Given the description of an element on the screen output the (x, y) to click on. 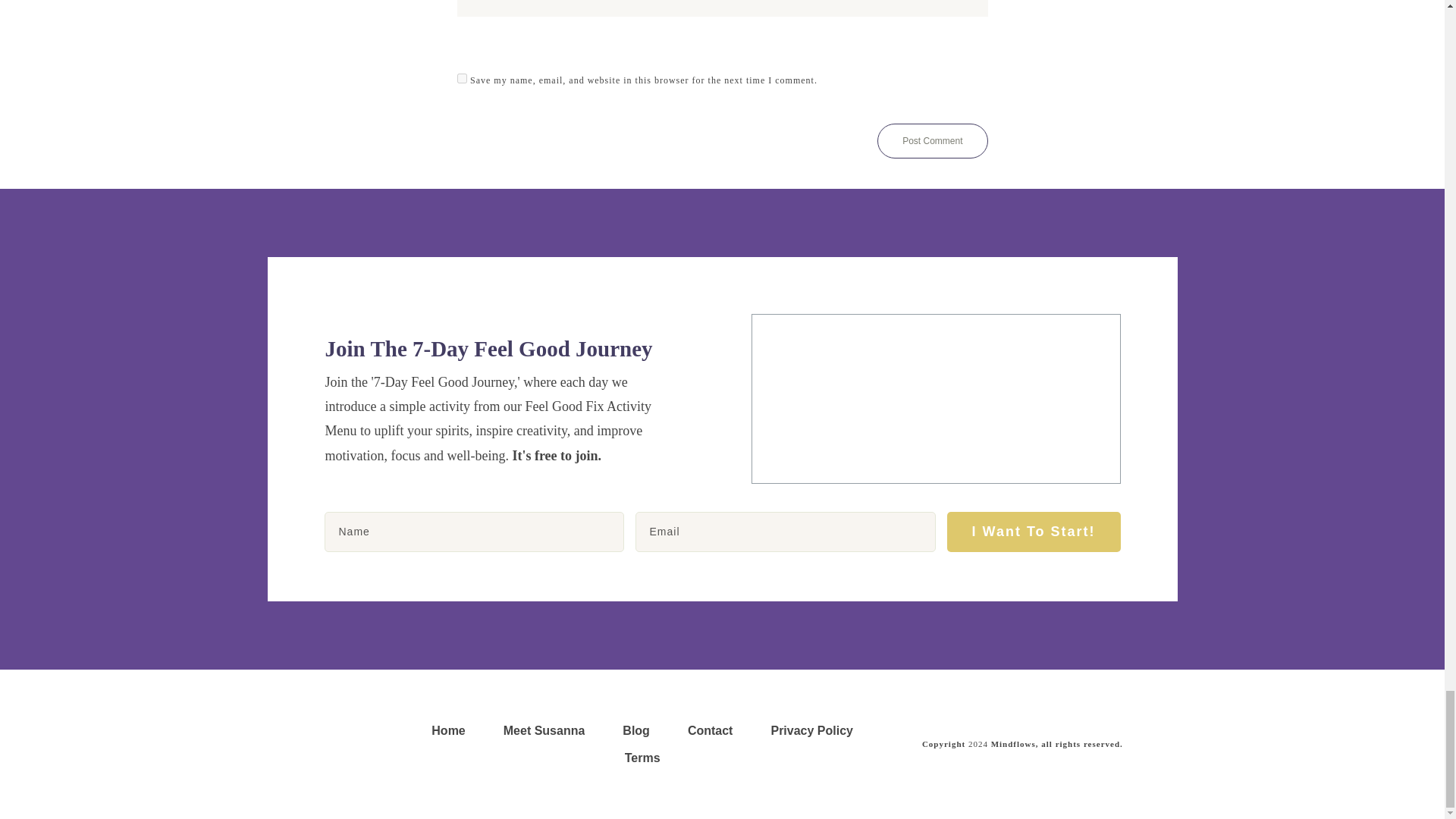
yes (461, 78)
Home (447, 730)
Contact (710, 730)
Privacy Policy (811, 730)
I Want To Start! (1034, 531)
Meet Susanna (544, 730)
Blog (636, 730)
Post Comment (932, 140)
Terms (642, 758)
